Given the description of an element on the screen output the (x, y) to click on. 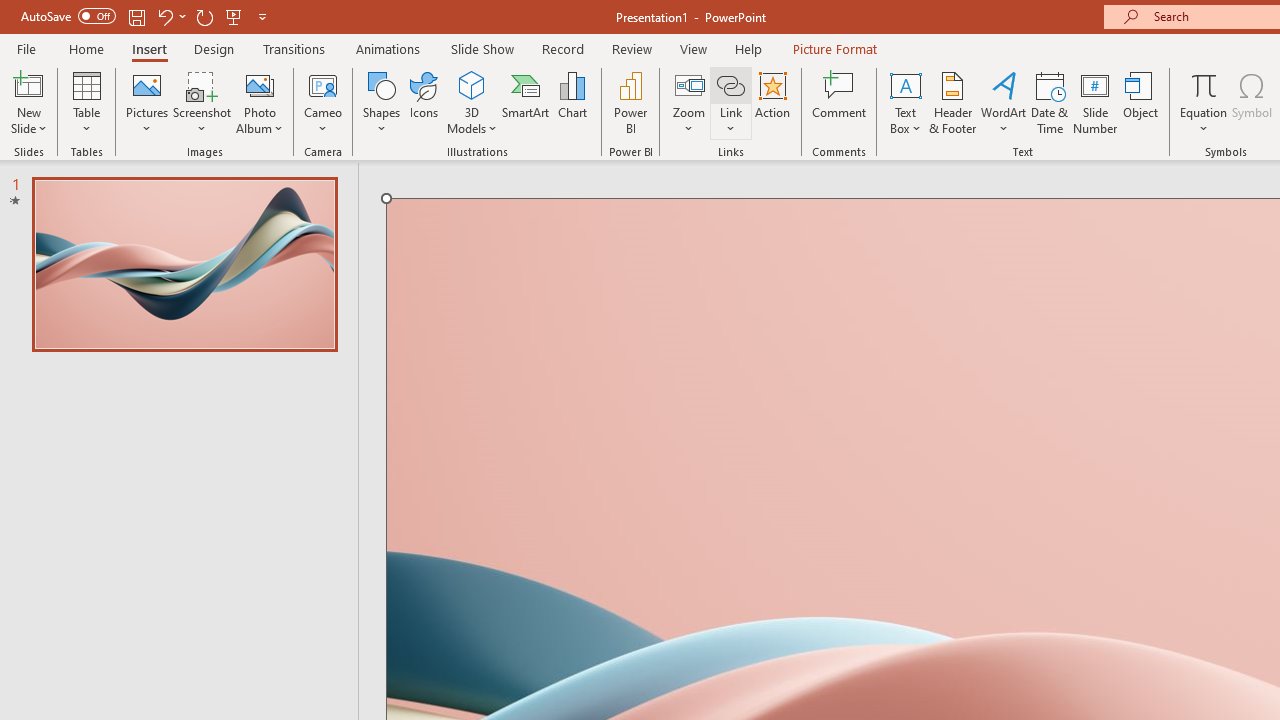
Icons (424, 102)
WordArt (1004, 102)
